Given the description of an element on the screen output the (x, y) to click on. 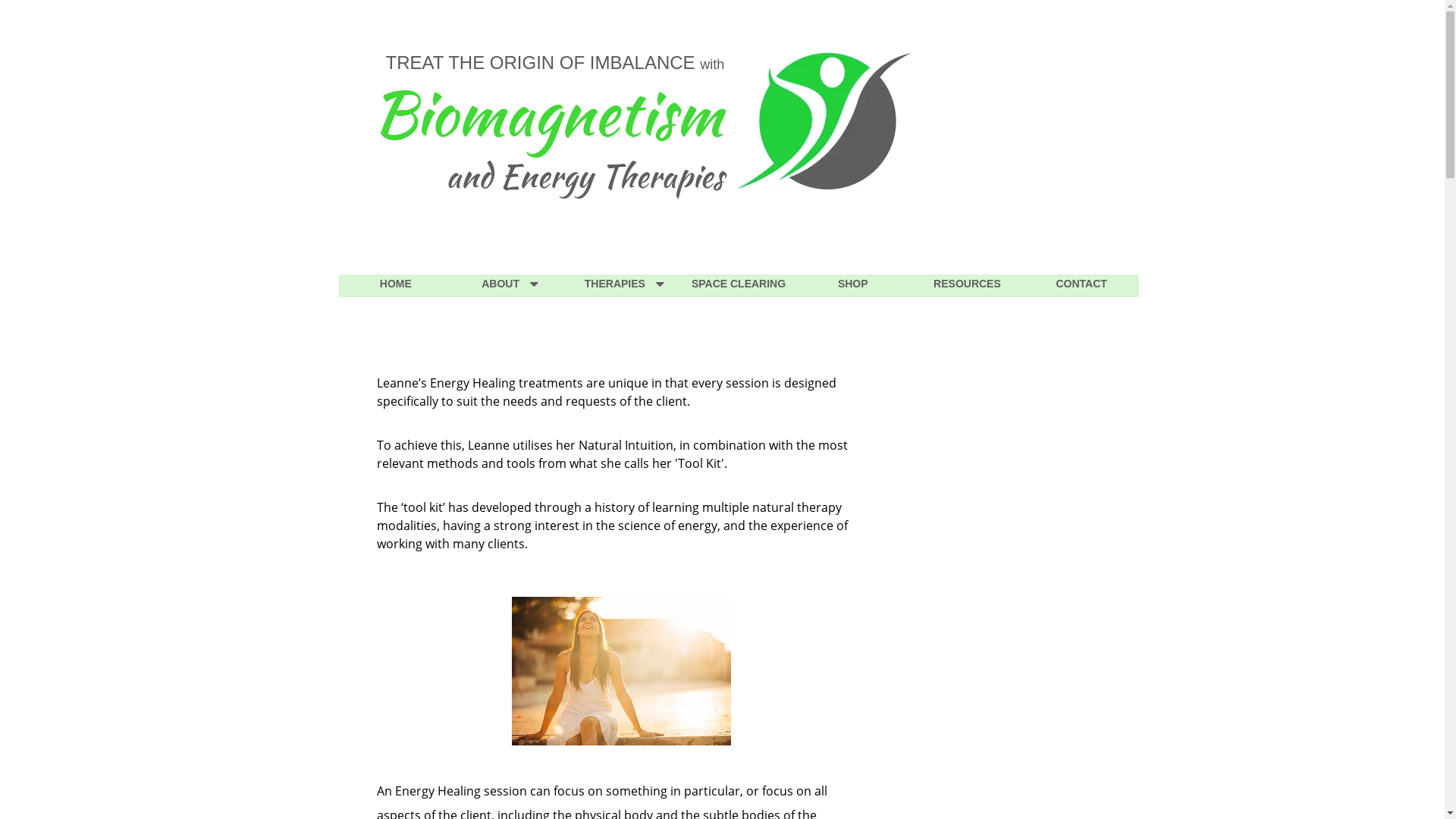
HOME Element type: text (395, 285)
RESOURCES Element type: text (967, 285)
THERAPIES Element type: text (624, 285)
SPACE CLEARING Element type: text (738, 285)
ABOUT Element type: text (509, 285)
CONTACT Element type: text (1081, 285)
SHOP Element type: text (852, 285)
